Given the description of an element on the screen output the (x, y) to click on. 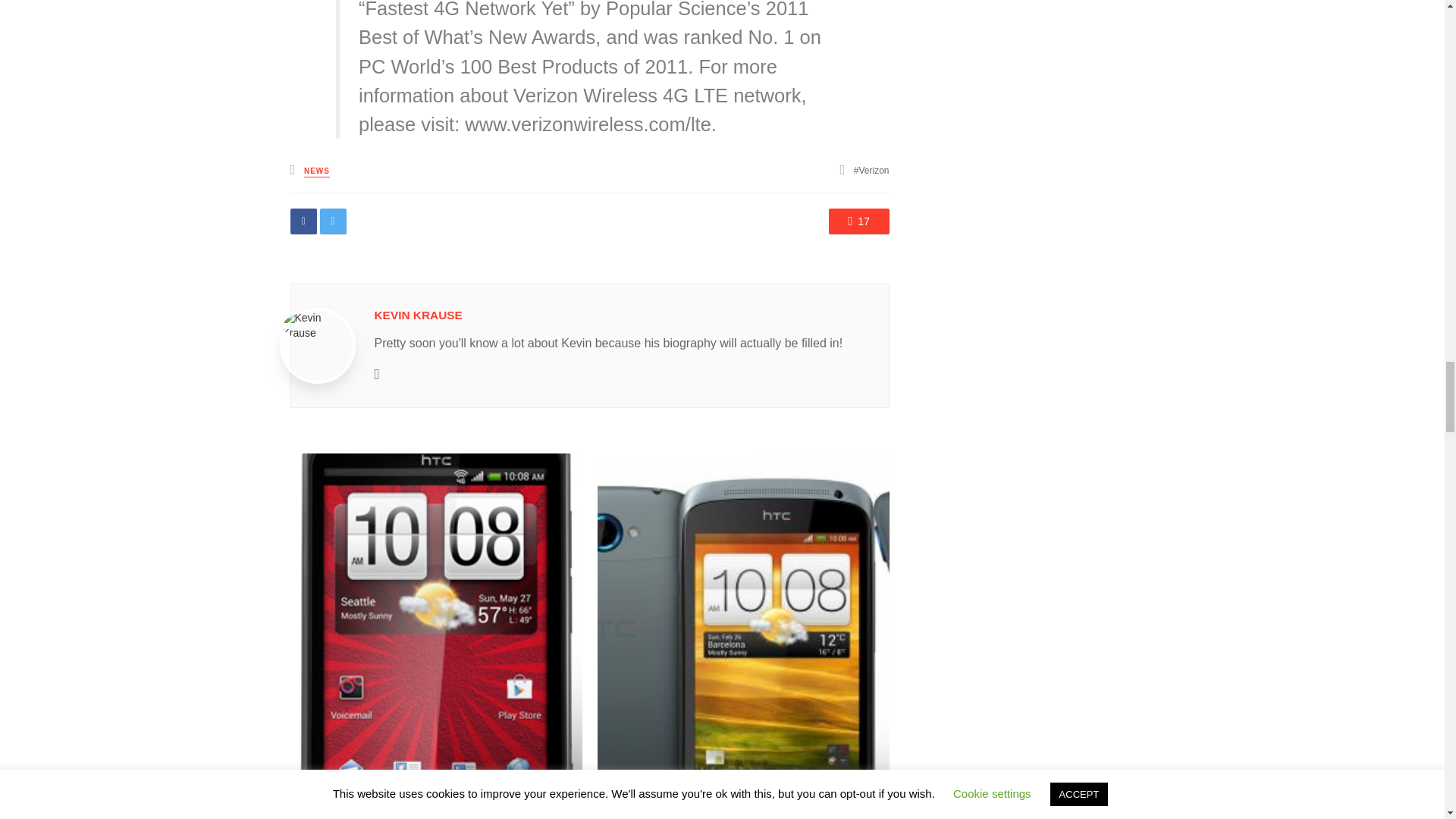
17 (858, 221)
KEVIN KRAUSE (418, 314)
Posts by Kevin Krause (418, 314)
Verizon (871, 170)
NEWS (317, 171)
